Given the description of an element on the screen output the (x, y) to click on. 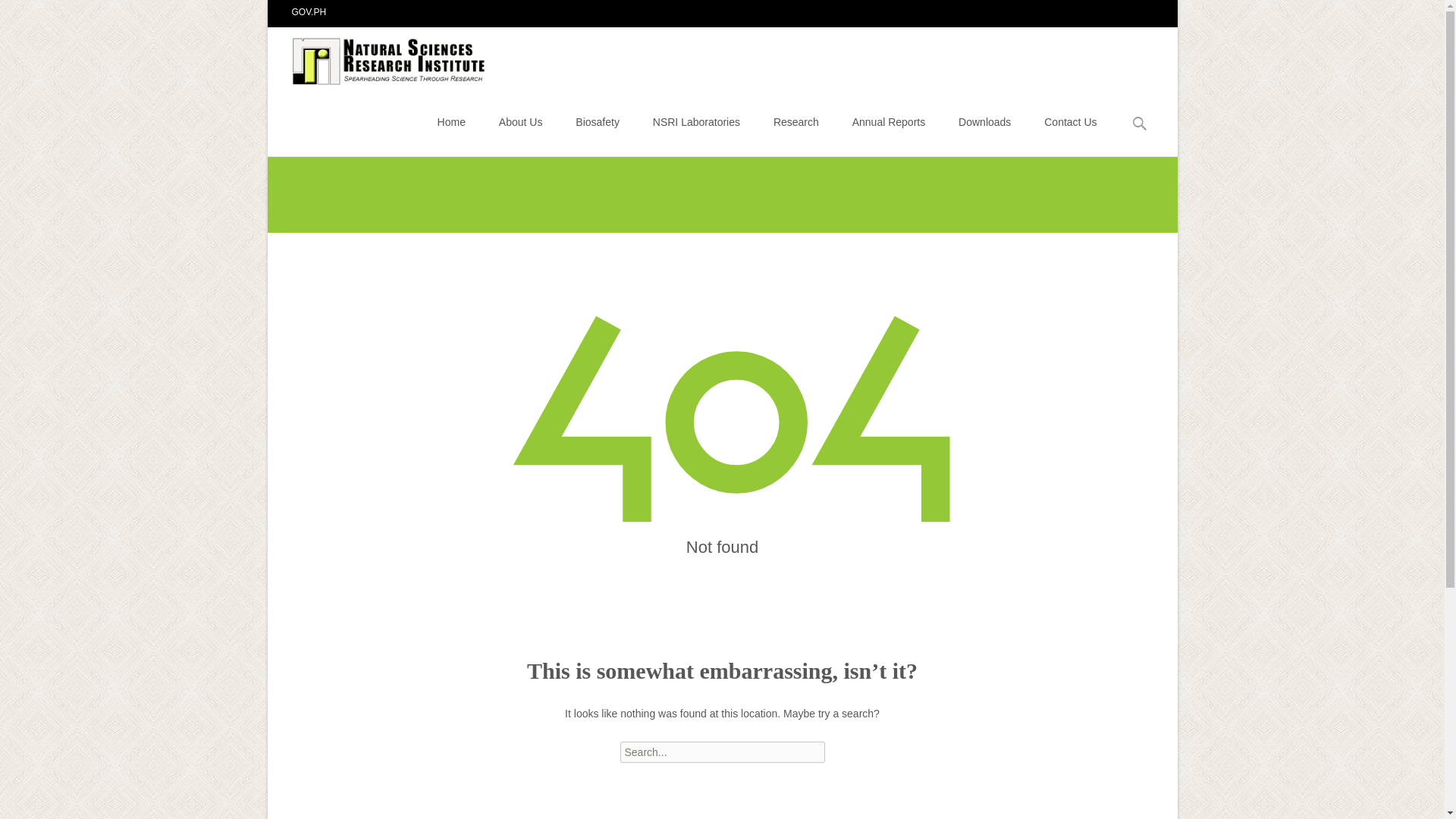
Search for: (722, 752)
Search (34, 14)
Annual Reports (888, 121)
Search (18, 14)
GOV.PH (308, 11)
Natural Sciences Research Institute (378, 57)
Search for: (1139, 123)
NSRI Laboratories (695, 121)
